Given the description of an element on the screen output the (x, y) to click on. 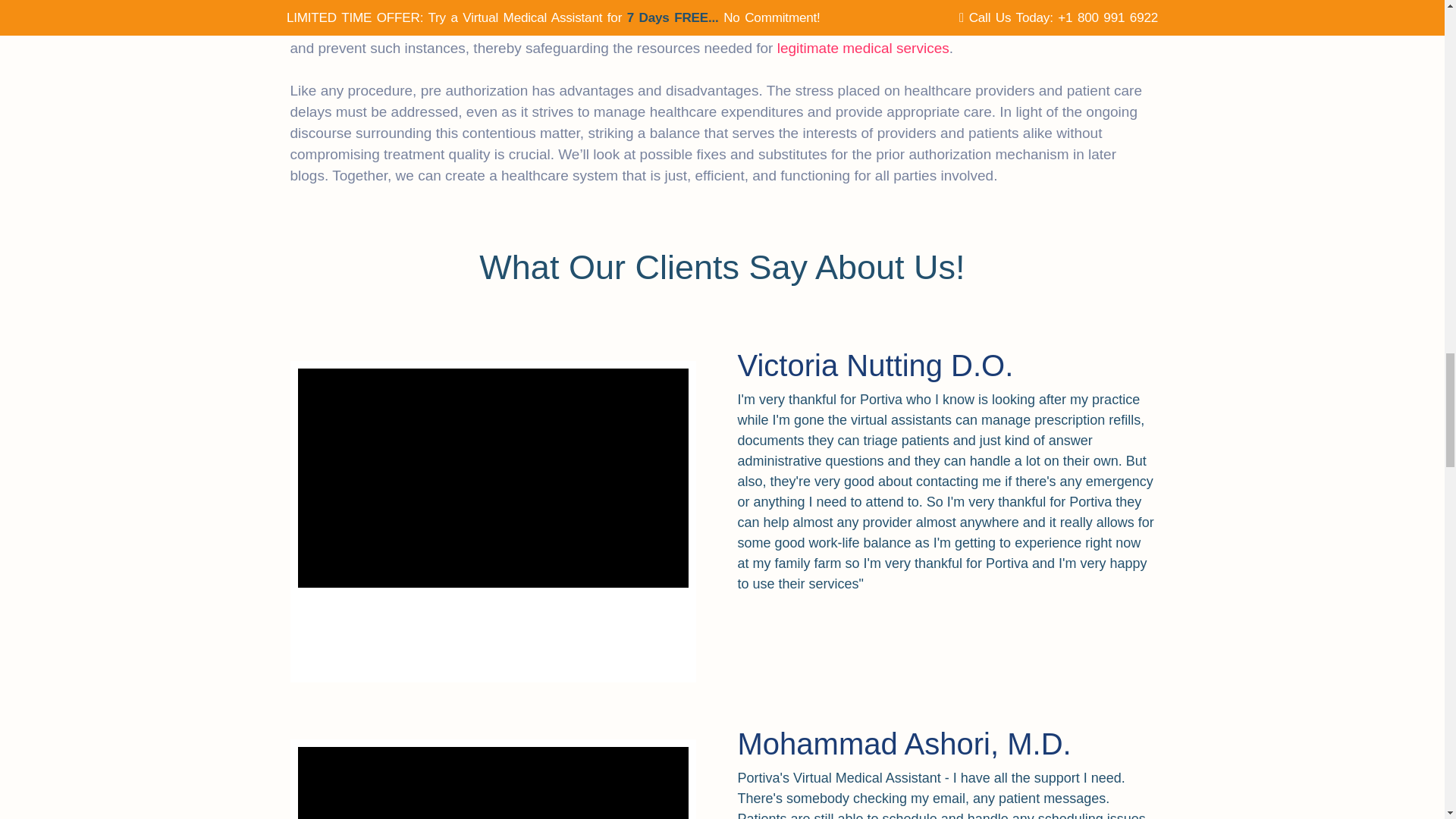
legitimate medical services (863, 48)
